Given the description of an element on the screen output the (x, y) to click on. 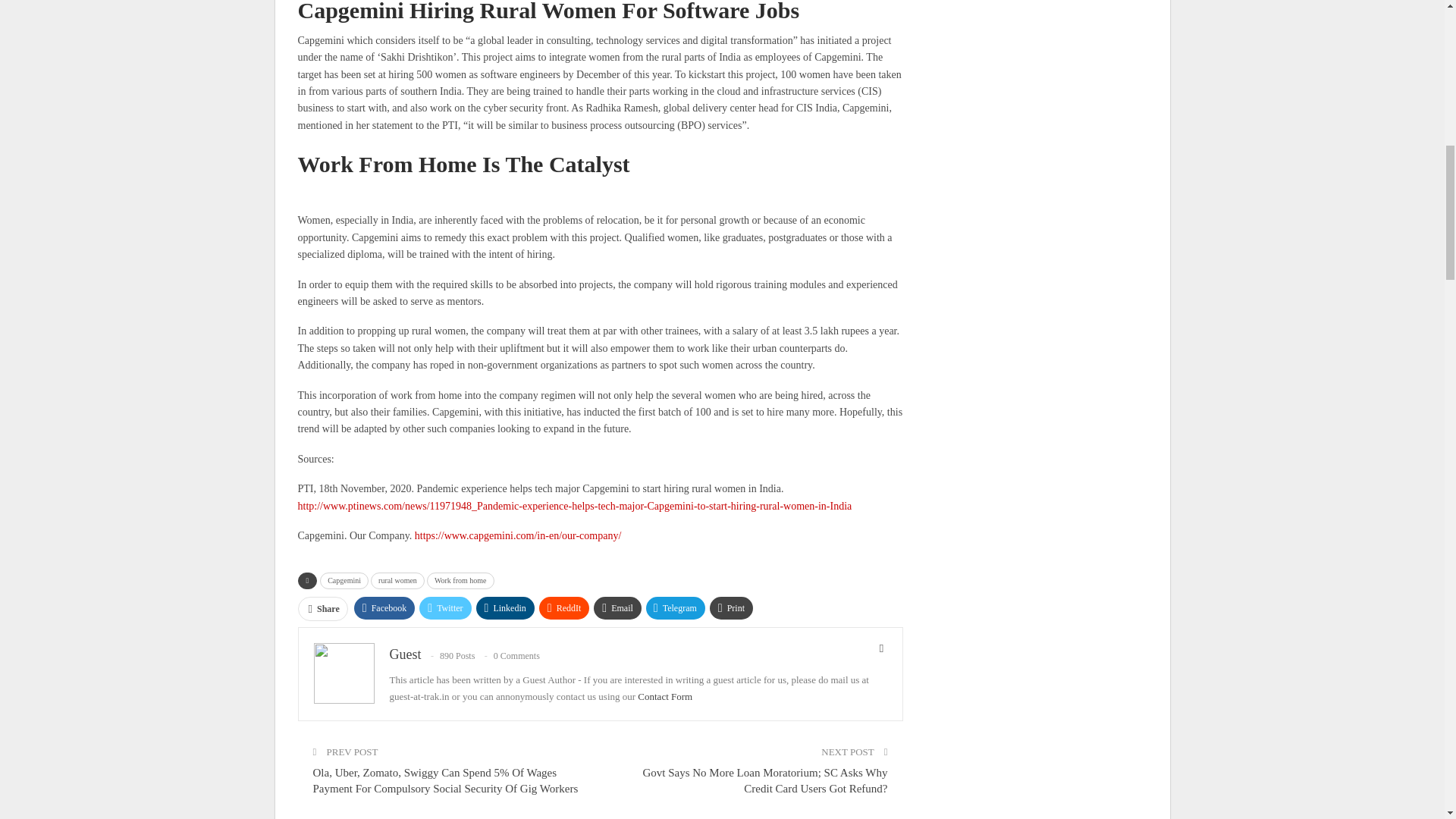
Contact Form (665, 696)
Work from home (460, 580)
rural women (398, 580)
Facebook (383, 608)
Capgemini (344, 580)
